Given the description of an element on the screen output the (x, y) to click on. 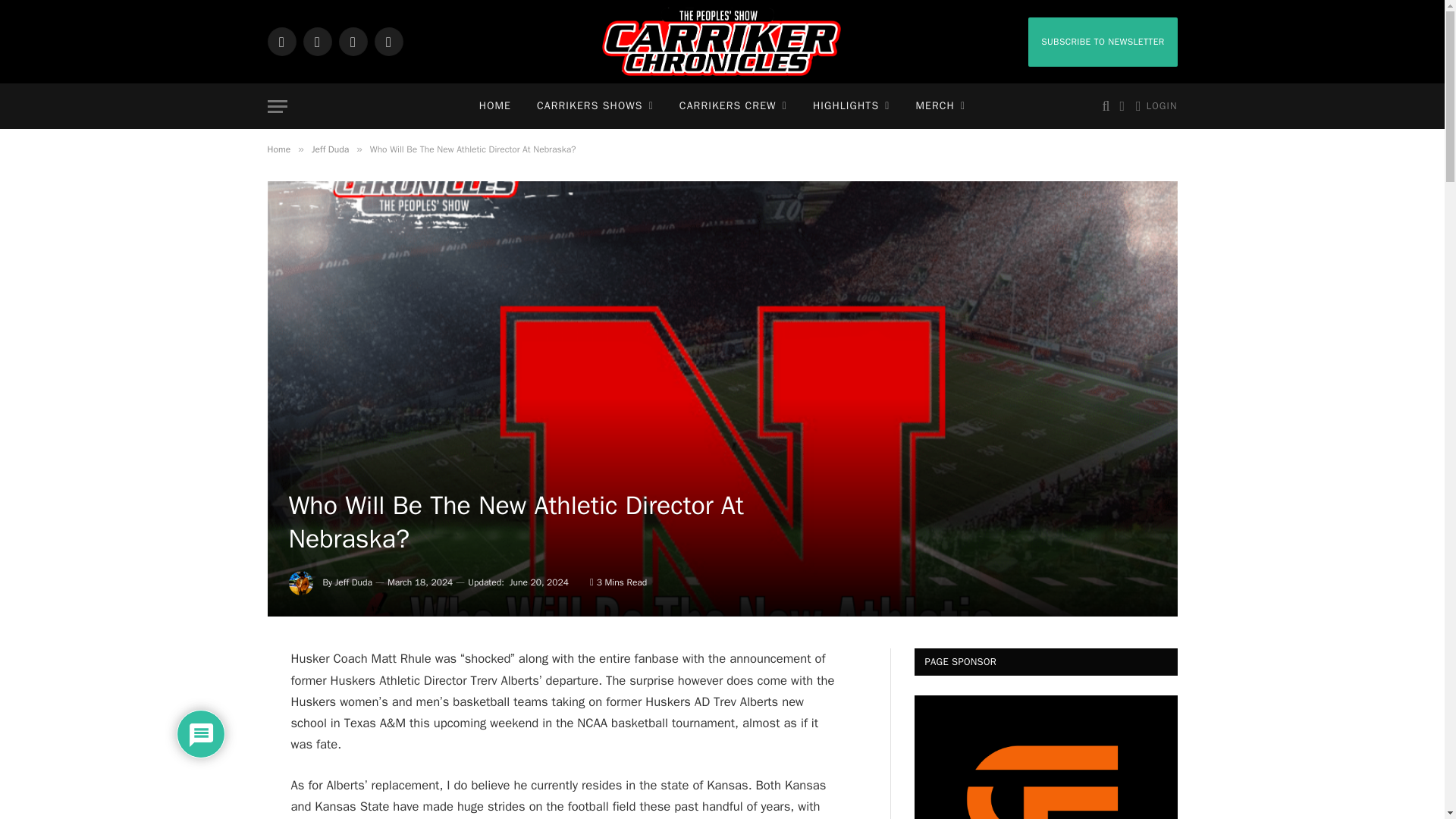
Posts by Jeff Duda (353, 582)
